Given the description of an element on the screen output the (x, y) to click on. 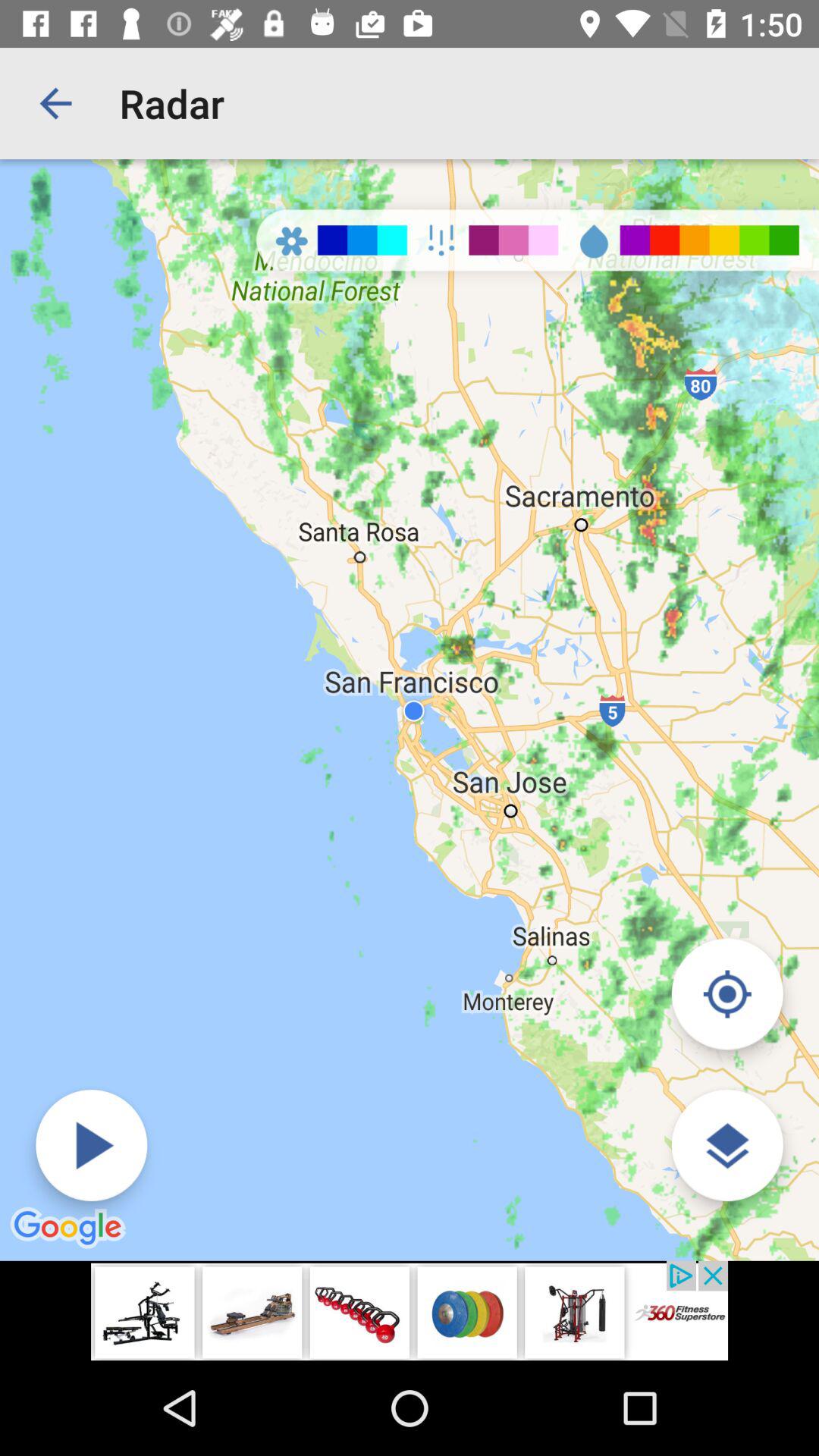
go forward (91, 1145)
